Given the description of an element on the screen output the (x, y) to click on. 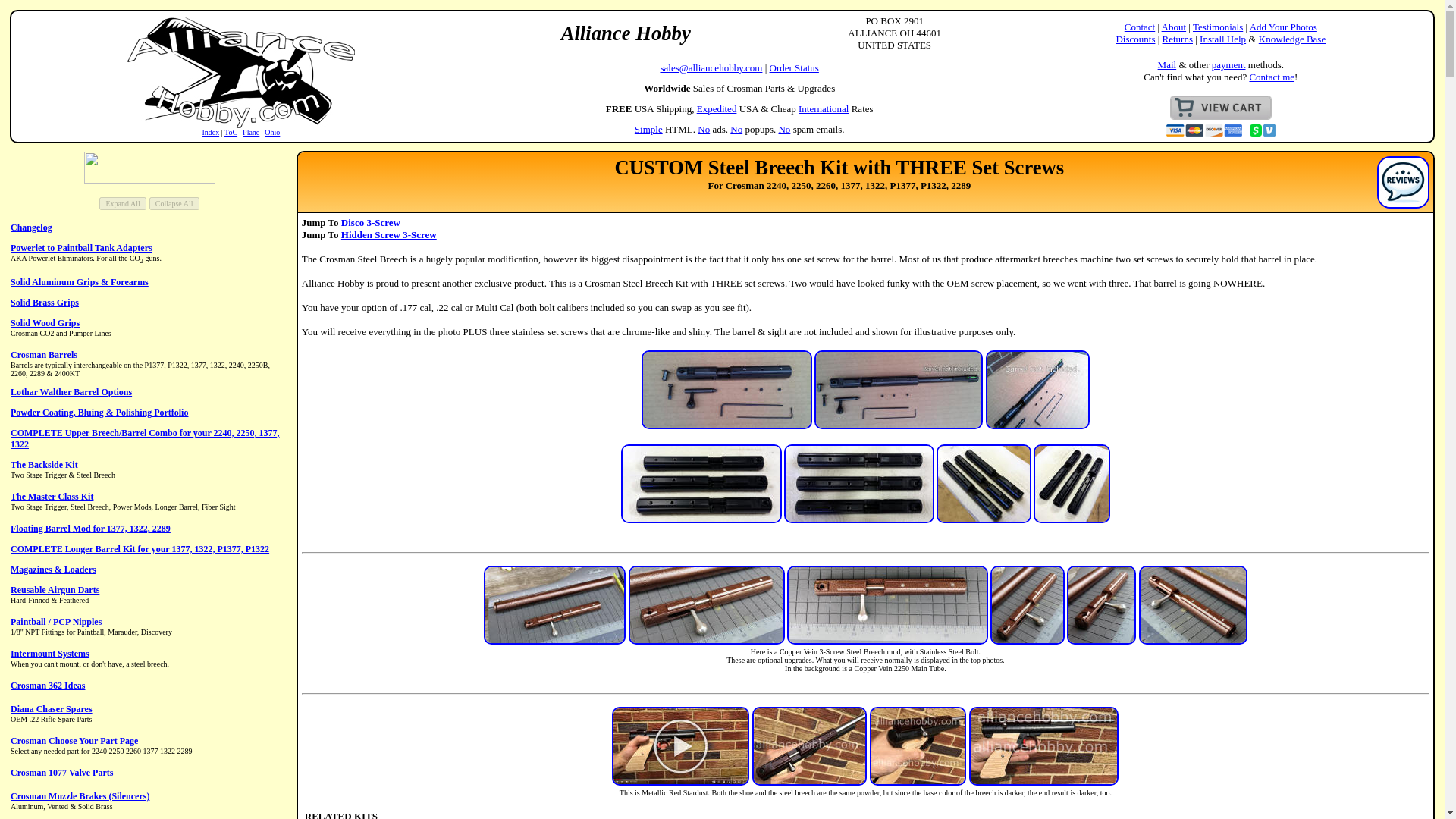
Returns (1176, 39)
Mail (1166, 64)
Knowledge Base (1291, 39)
Order Status (794, 67)
No (736, 128)
Index (210, 131)
Ohio (271, 131)
ToC (230, 131)
No (703, 128)
Expedited (716, 108)
